Given the description of an element on the screen output the (x, y) to click on. 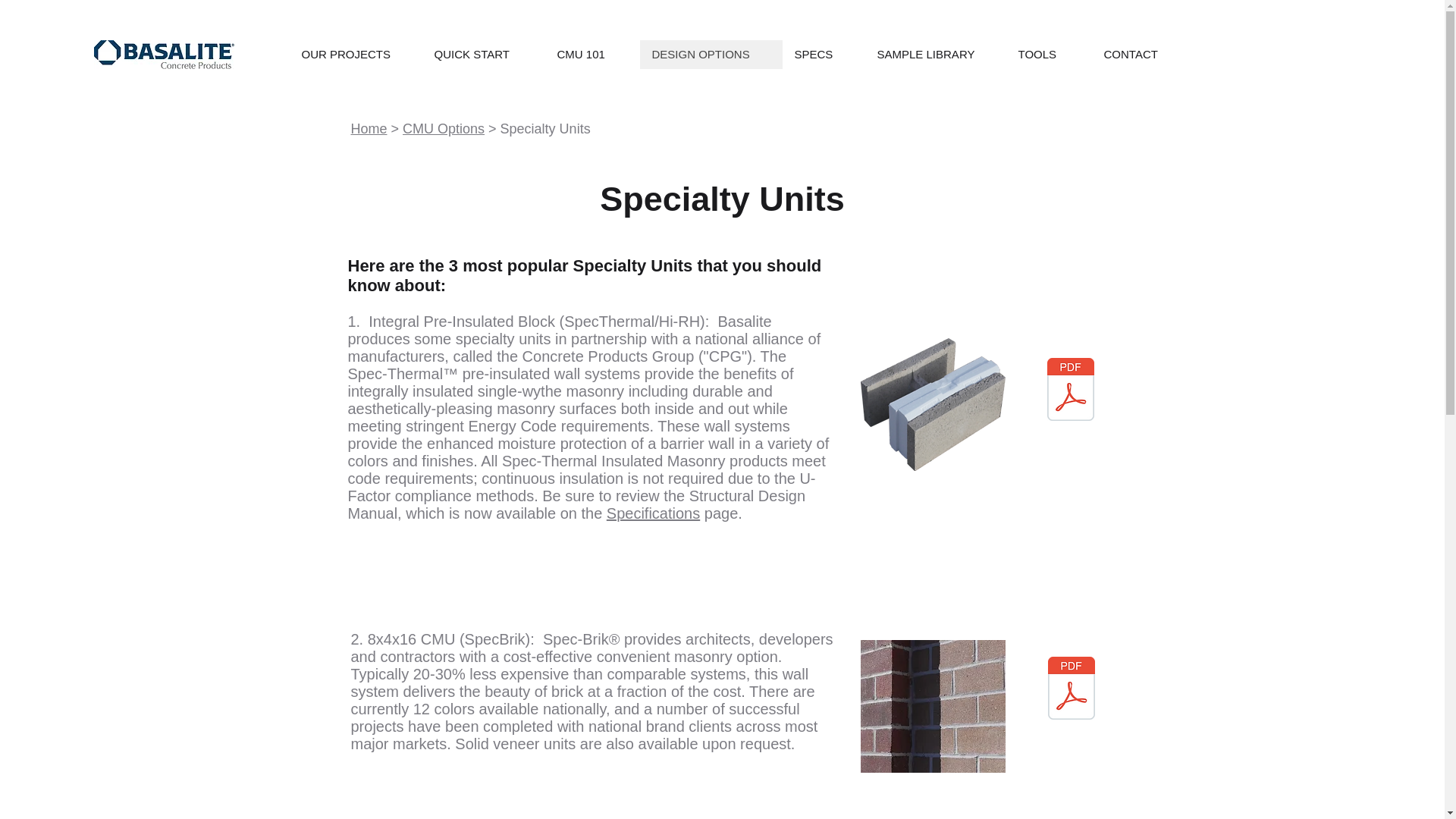
OUR PROJECTS (355, 54)
SAMPLE LIBRARY (935, 54)
SPECS (823, 54)
TOOLS (1048, 54)
CMU 101 (591, 54)
CONTACT (1142, 54)
DESIGN OPTIONS (711, 54)
Hi-RH2018.04.19web.pdf (1070, 390)
QUICK START (483, 54)
